Given the description of an element on the screen output the (x, y) to click on. 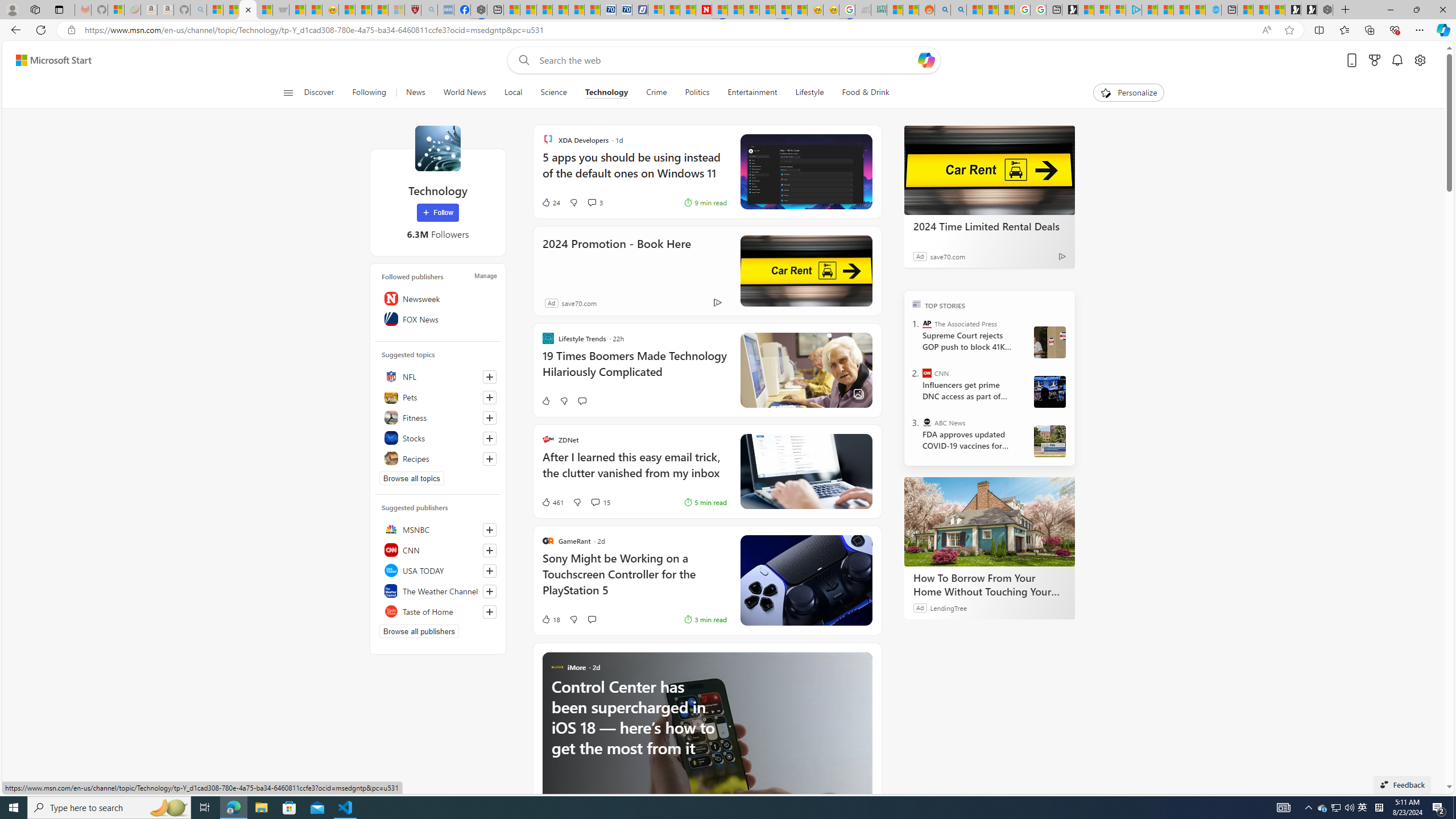
Like (544, 400)
MSNBC (437, 529)
CNN (437, 549)
NFL (437, 376)
